Given the description of an element on the screen output the (x, y) to click on. 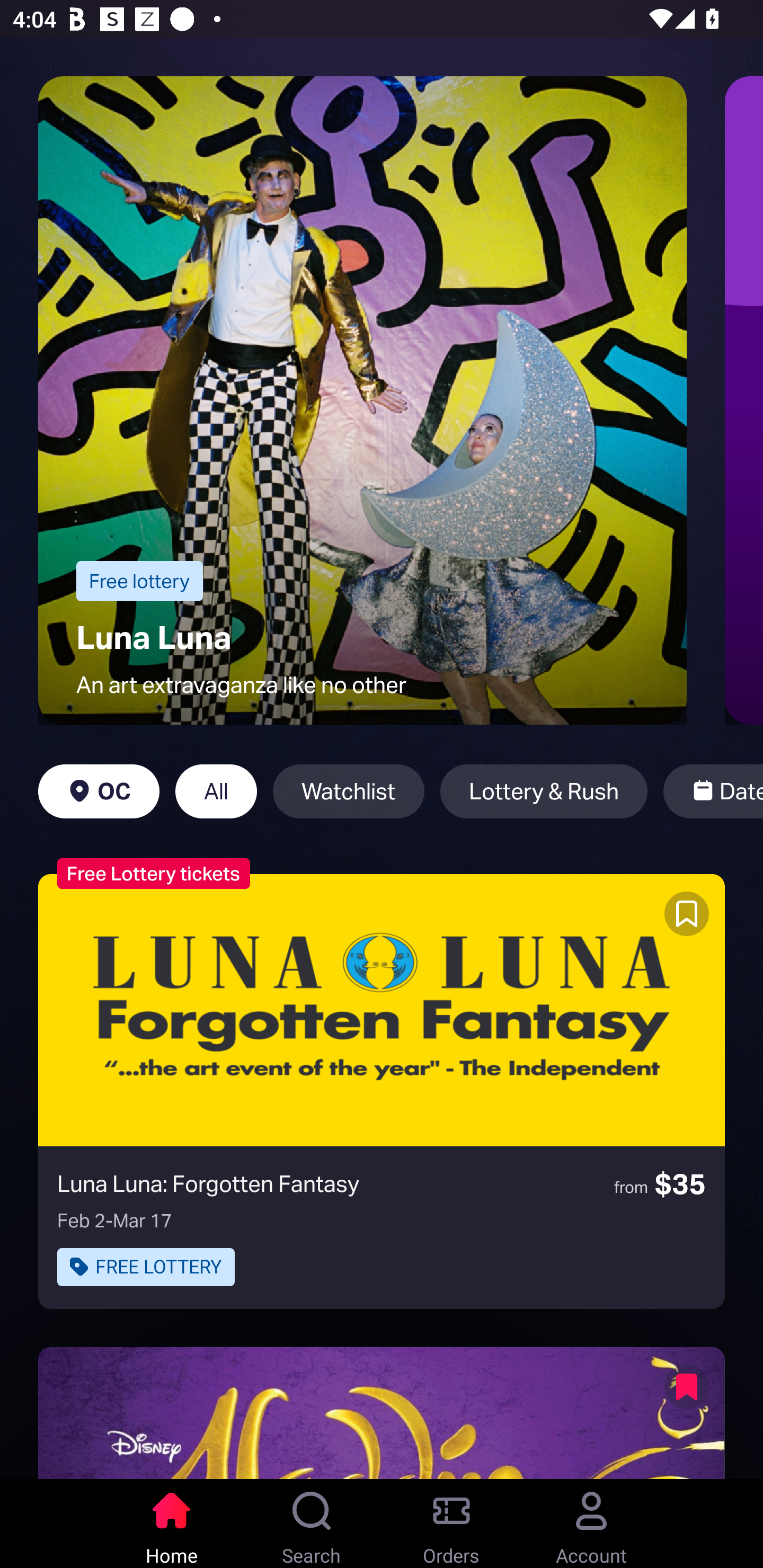
OC (98, 791)
All (216, 791)
Watchlist (348, 791)
Lottery & Rush (543, 791)
Search (311, 1523)
Orders (451, 1523)
Account (591, 1523)
